Given the description of an element on the screen output the (x, y) to click on. 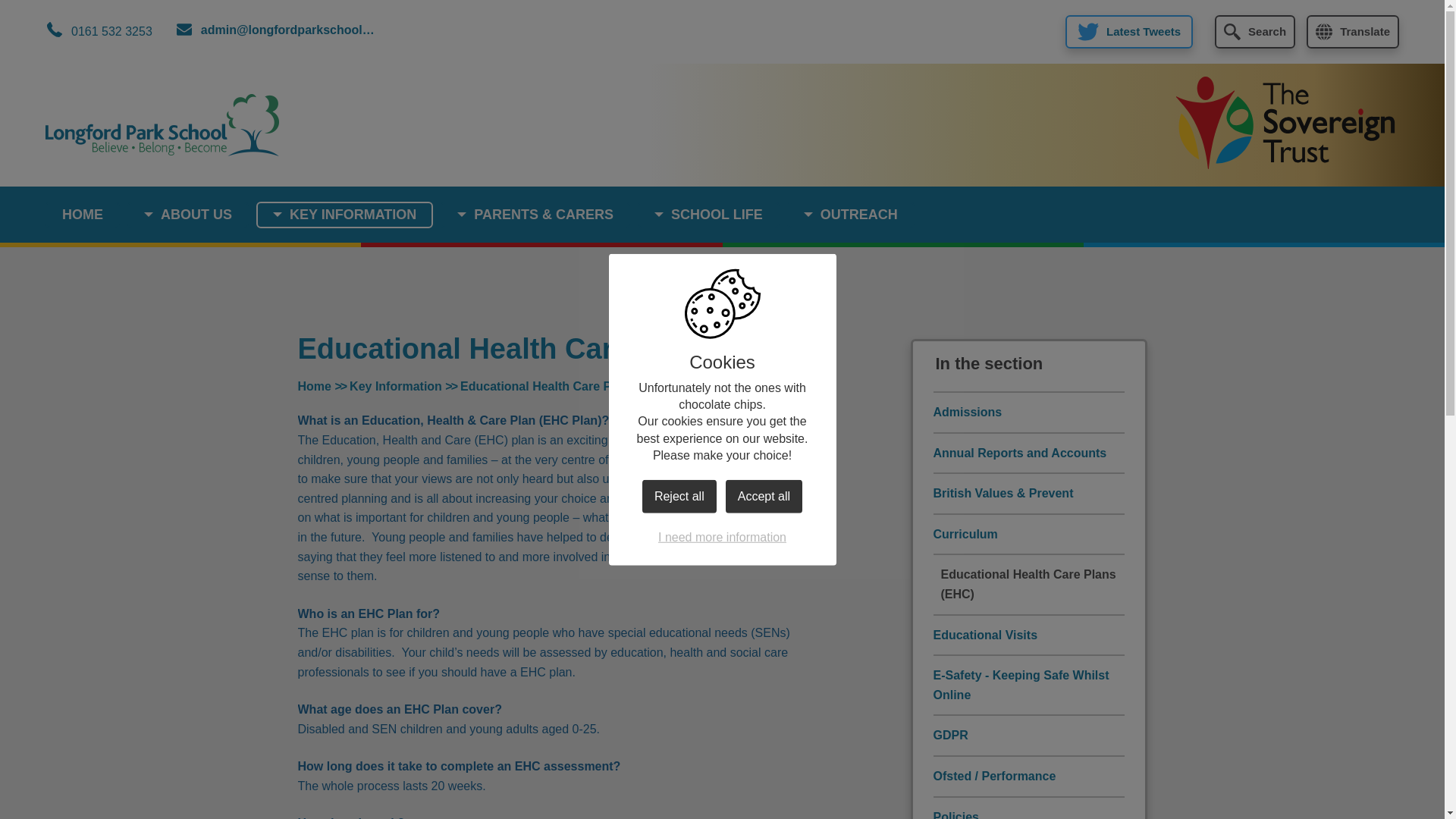
HOME (82, 214)
Home Page (162, 125)
Latest Tweets (1128, 31)
KEY INFORMATION (344, 214)
The Sovereign Trust (1285, 122)
0161 532 3253 (98, 31)
ABOUT US (188, 214)
The Sovereign Trust (1285, 124)
